Given the description of an element on the screen output the (x, y) to click on. 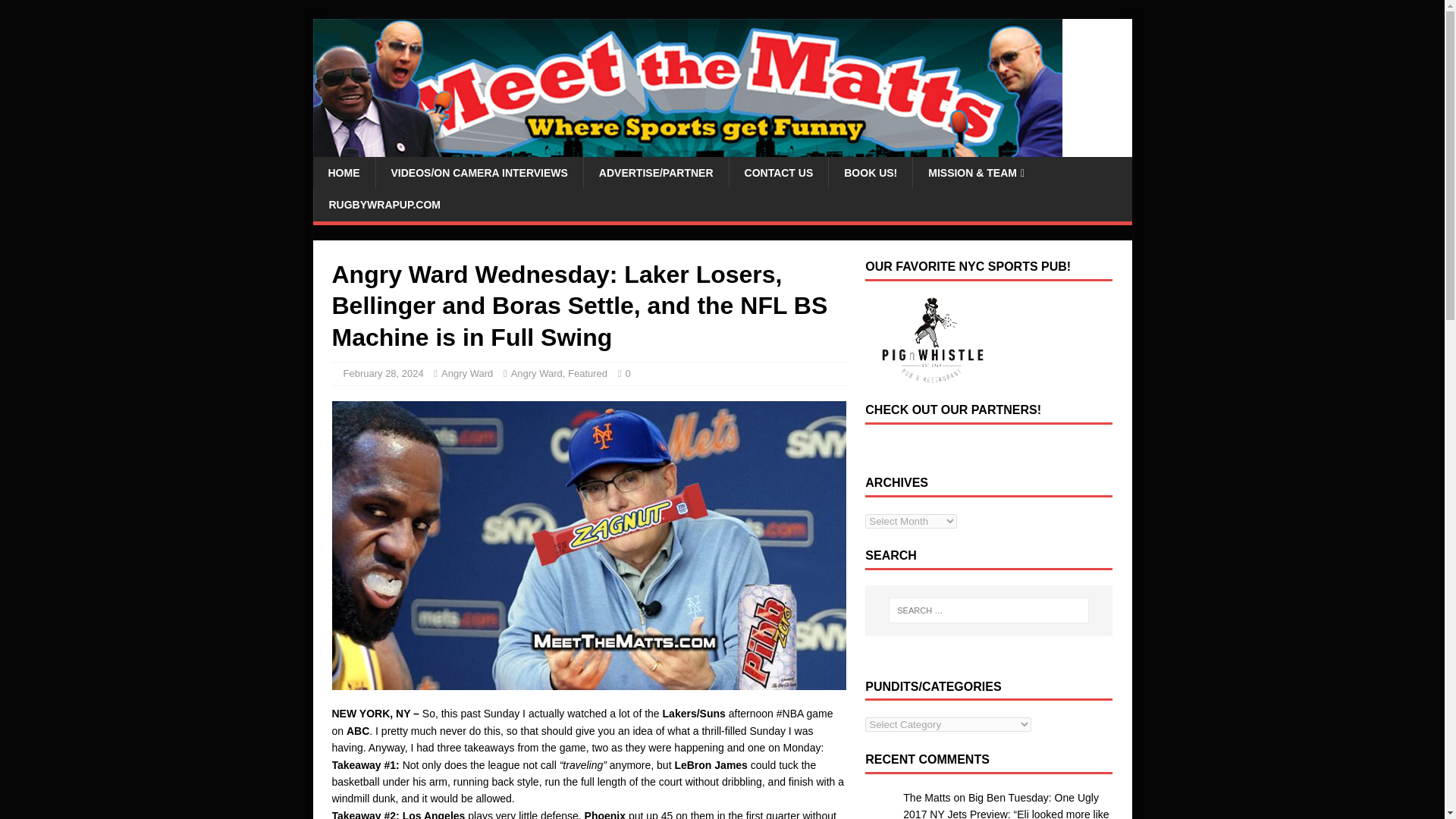
Angry Ward (536, 373)
RUGBYWRAPUP.COM (384, 204)
Search (56, 11)
Big Ben Tuesday: One Ugly 2017 NY Jets Preview (1000, 805)
CONTACT US (778, 173)
Meet The Matts (687, 148)
BOOK US! (870, 173)
Angry Ward (467, 373)
February 28, 2024 (382, 373)
HOME (343, 173)
